Given the description of an element on the screen output the (x, y) to click on. 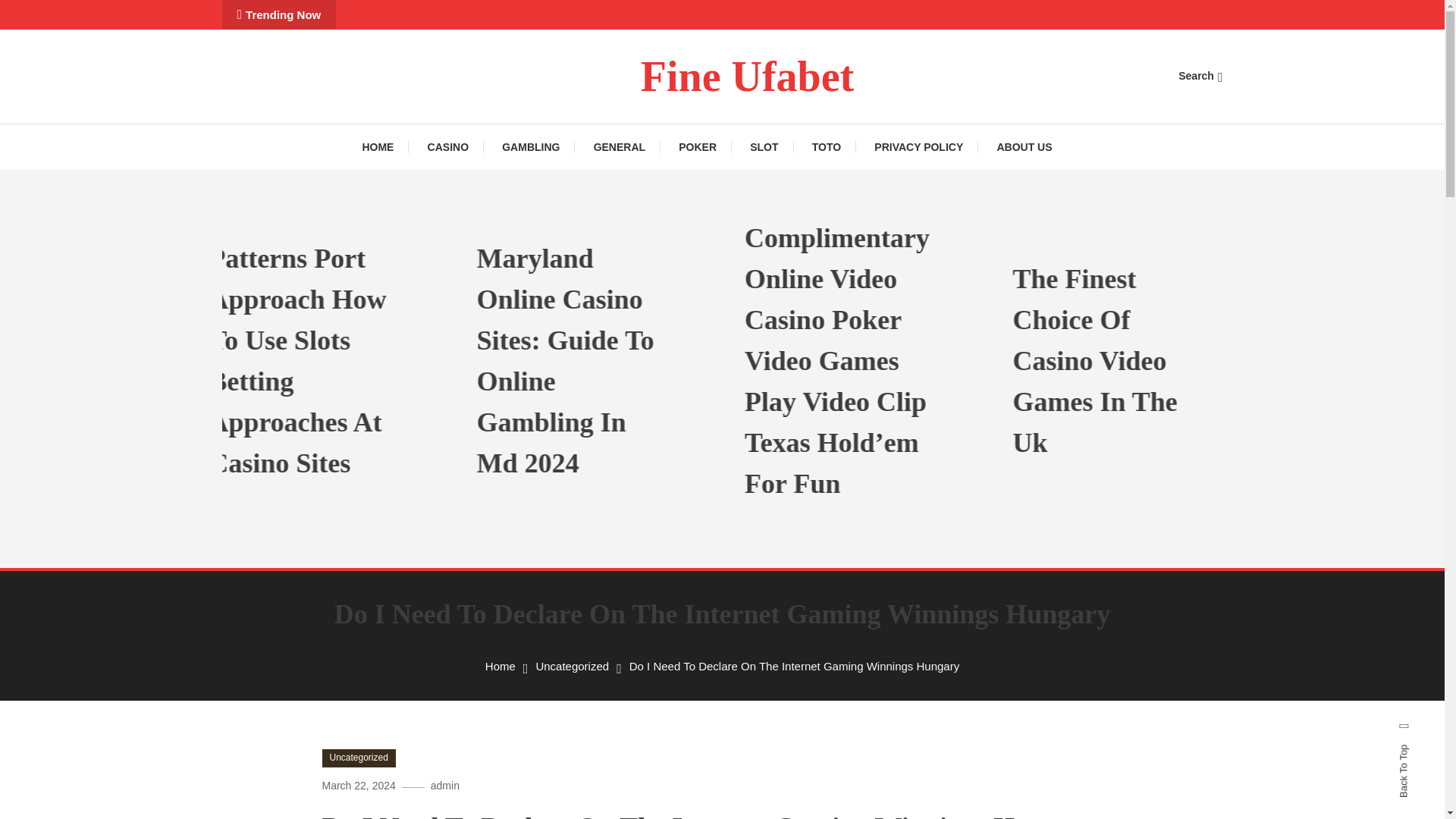
Search (768, 434)
POKER (697, 146)
ABOUT US (1024, 146)
SLOT (764, 146)
CASINO (447, 146)
GAMBLING (530, 146)
TOTO (826, 146)
PRIVACY POLICY (918, 146)
HOME (385, 146)
The Finest Choice Of Casino Video Games In The Uk (1180, 360)
